Given the description of an element on the screen output the (x, y) to click on. 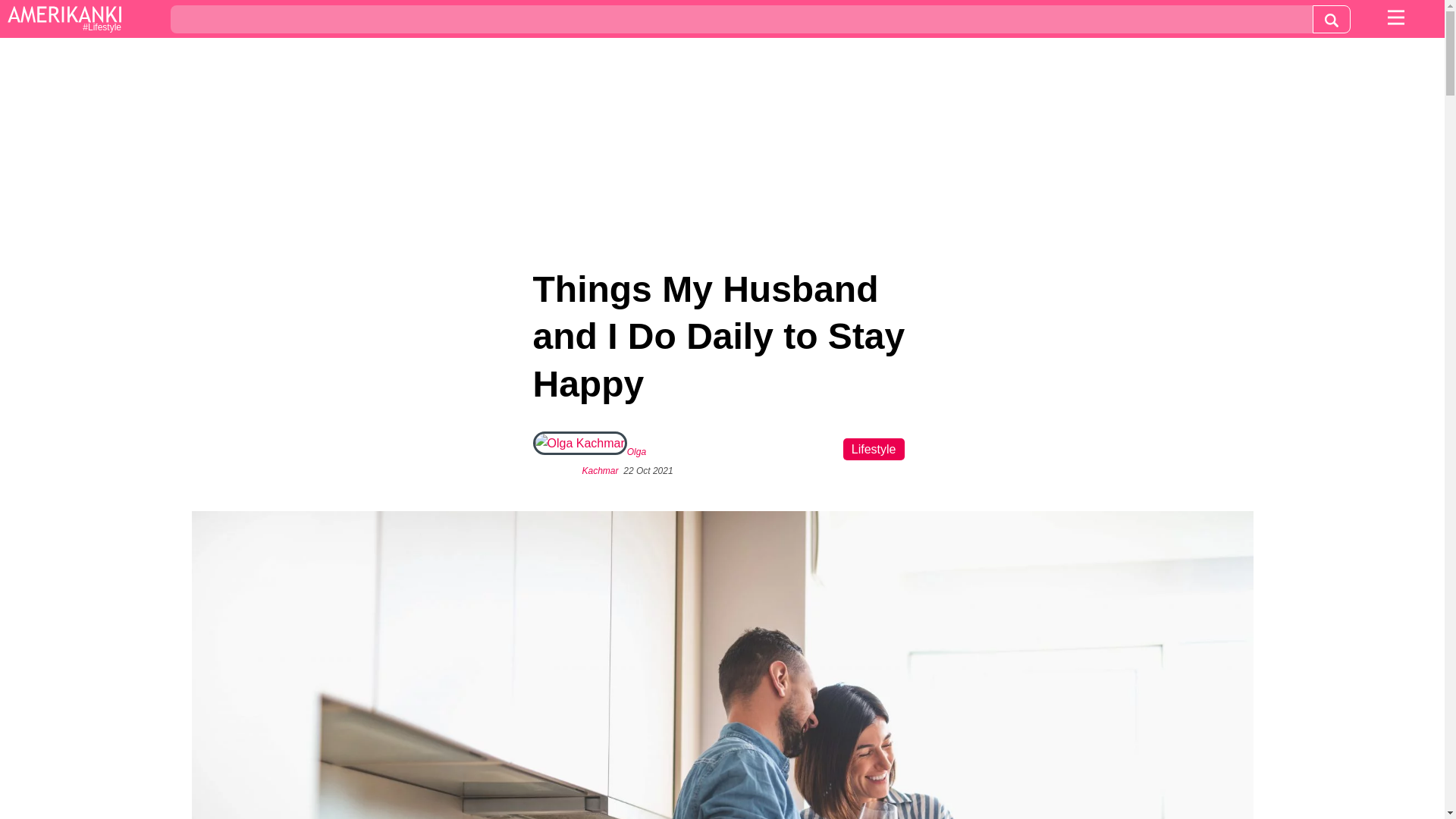
Lifestyle Amerikanki (63, 19)
Lifestyle (63, 19)
Olga Kachmar (614, 460)
Lifestyle (873, 449)
